Given the description of an element on the screen output the (x, y) to click on. 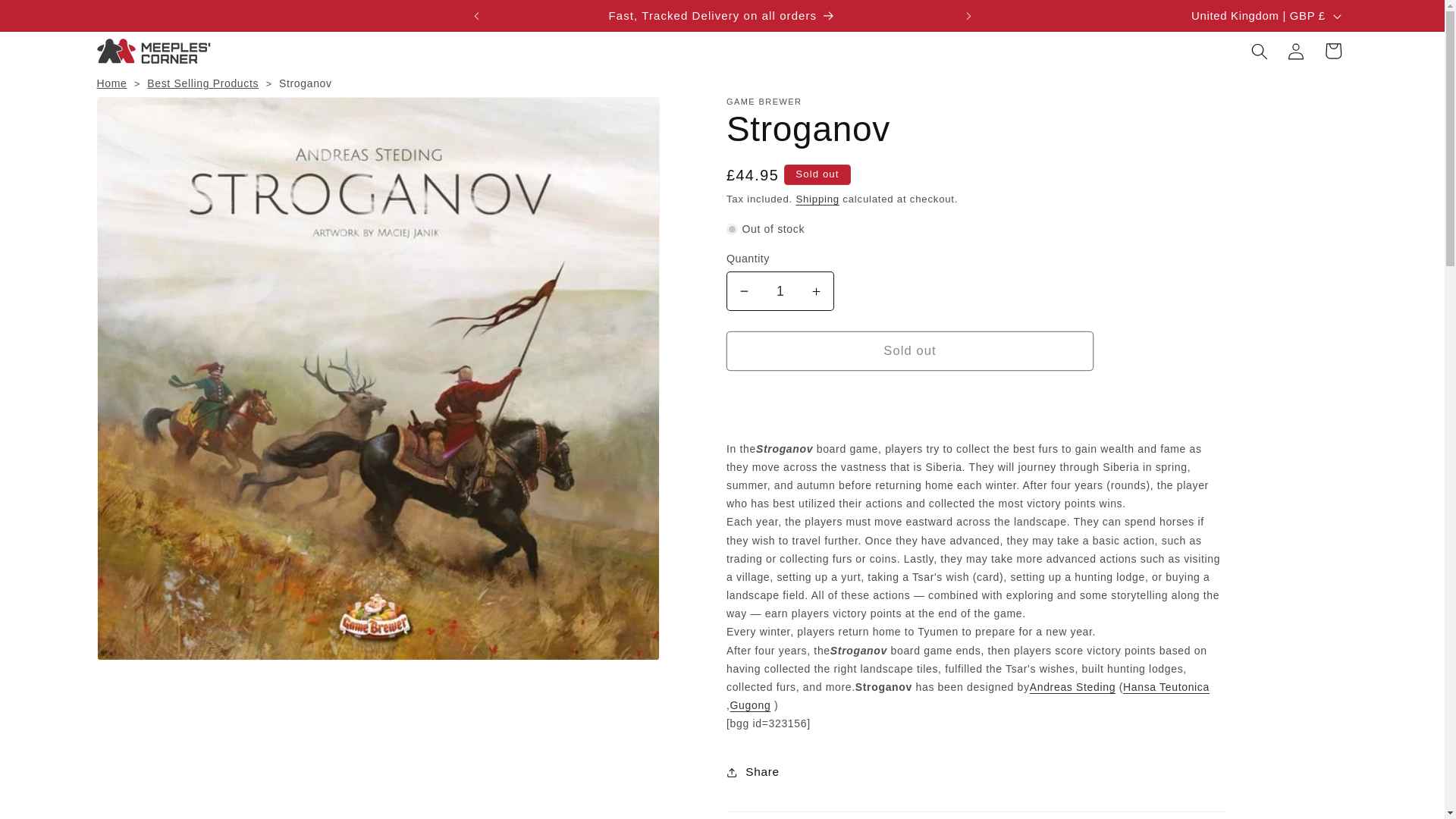
Cart (1332, 50)
1 (780, 291)
We Ship Worldwide! (1192, 15)
Log in (1296, 50)
Skip to product information (146, 115)
Gugong on meeplescorner.co.uk (750, 705)
Skip to content (50, 19)
Fast, Tracked Delivery on all orders (722, 15)
Best Selling Products (203, 82)
Hansa Teutonica Big Box on meeplescorner.co.uk (1165, 686)
